Given the description of an element on the screen output the (x, y) to click on. 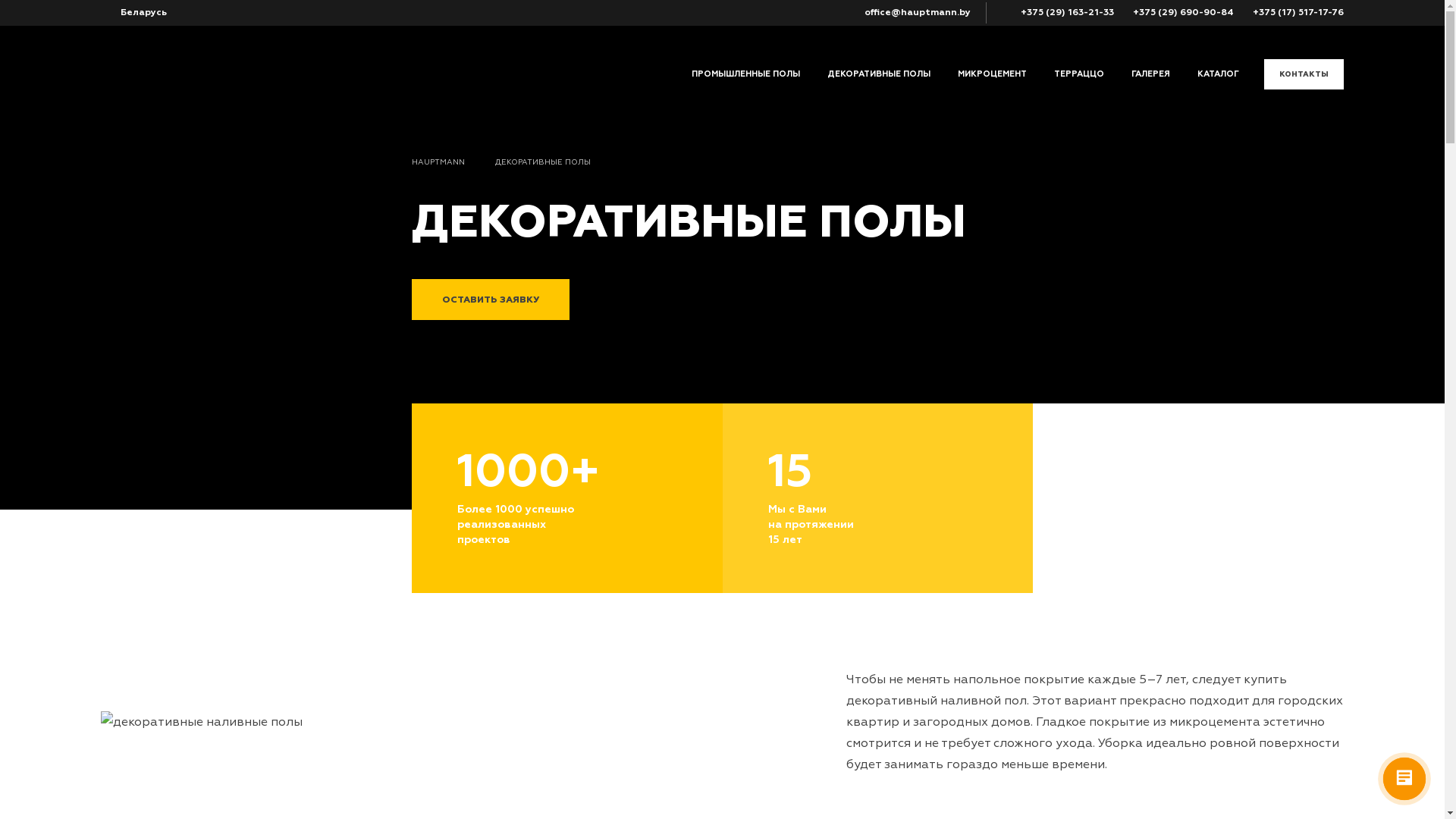
+375 (29) 690-90-84 Element type: text (1177, 12)
+375 (29) 163-21-33 Element type: text (1061, 12)
HAUPTMANN Element type: text (453, 161)
office@hauptmann.by Element type: text (911, 12)
+375 (17) 517-17-76 Element type: text (1292, 12)
